Given the description of an element on the screen output the (x, y) to click on. 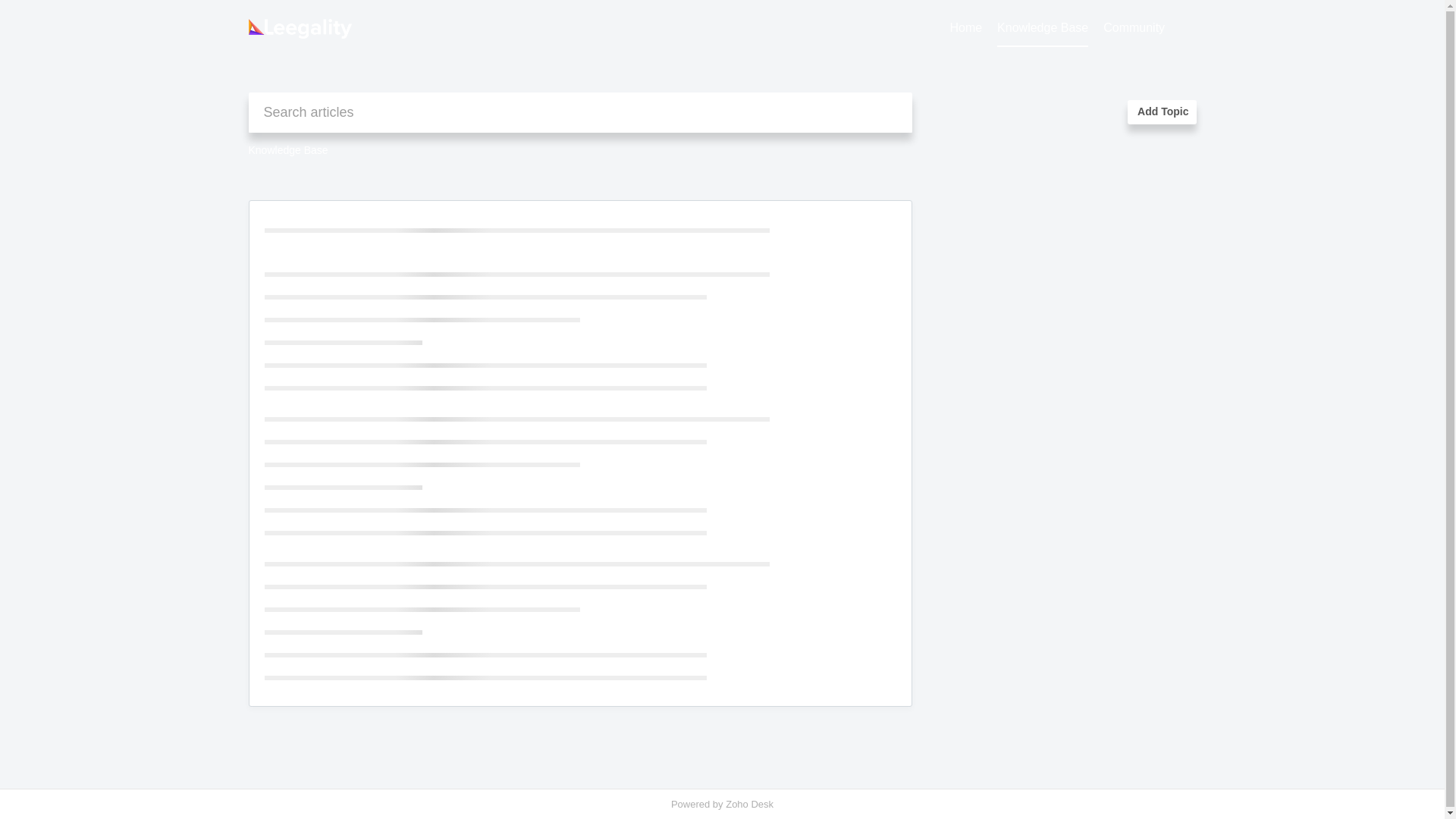
Knowledge Base (1042, 27)
Community (1133, 27)
Community (1133, 27)
Knowledge Base (288, 150)
Zoho Desk (749, 803)
Add Topic (1160, 111)
Home (965, 27)
Home (965, 27)
Knowledge Base (1042, 27)
